Given the description of an element on the screen output the (x, y) to click on. 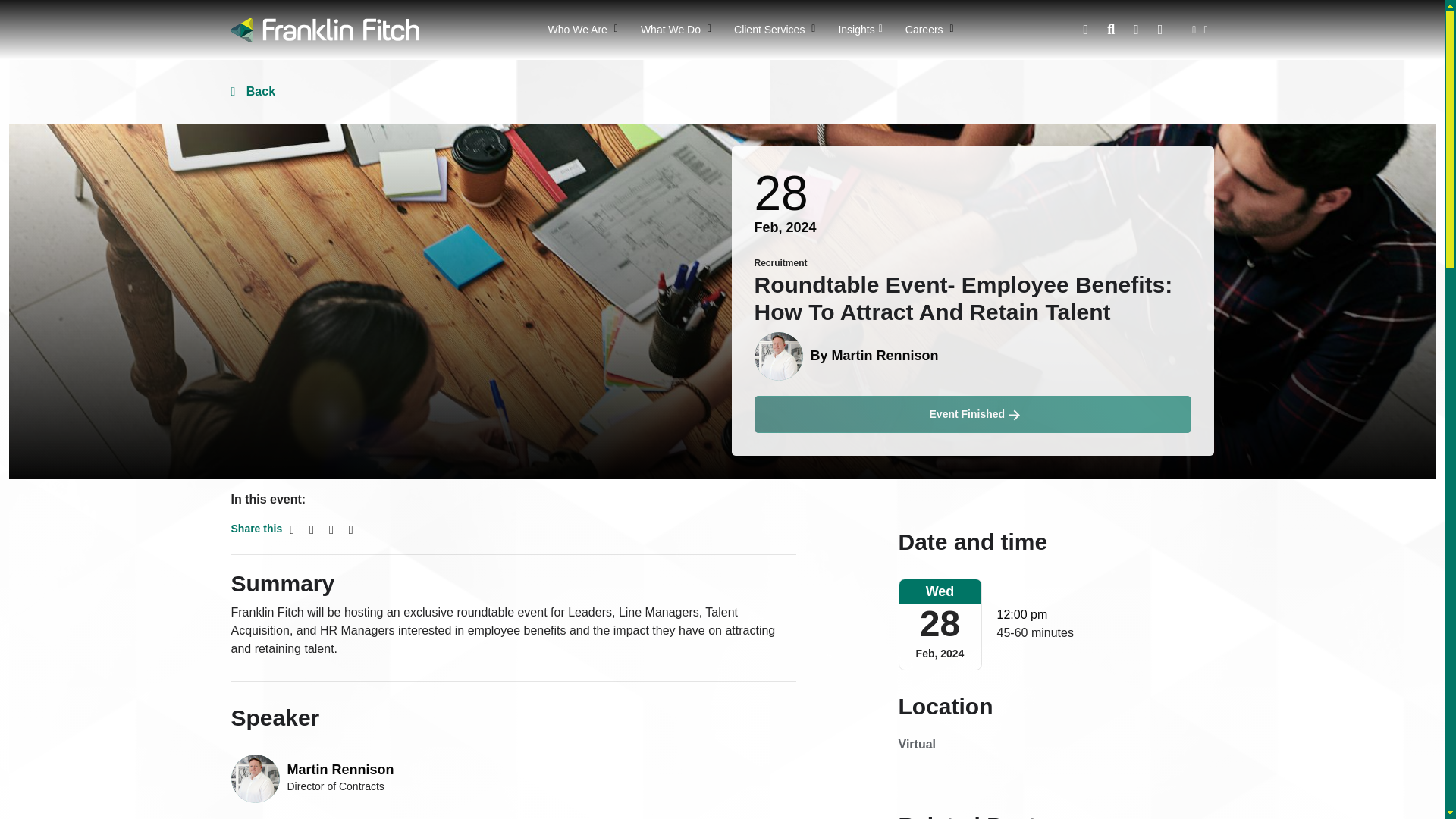
What We Do (675, 29)
Who We Are (582, 29)
Client Services (774, 29)
